Given the description of an element on the screen output the (x, y) to click on. 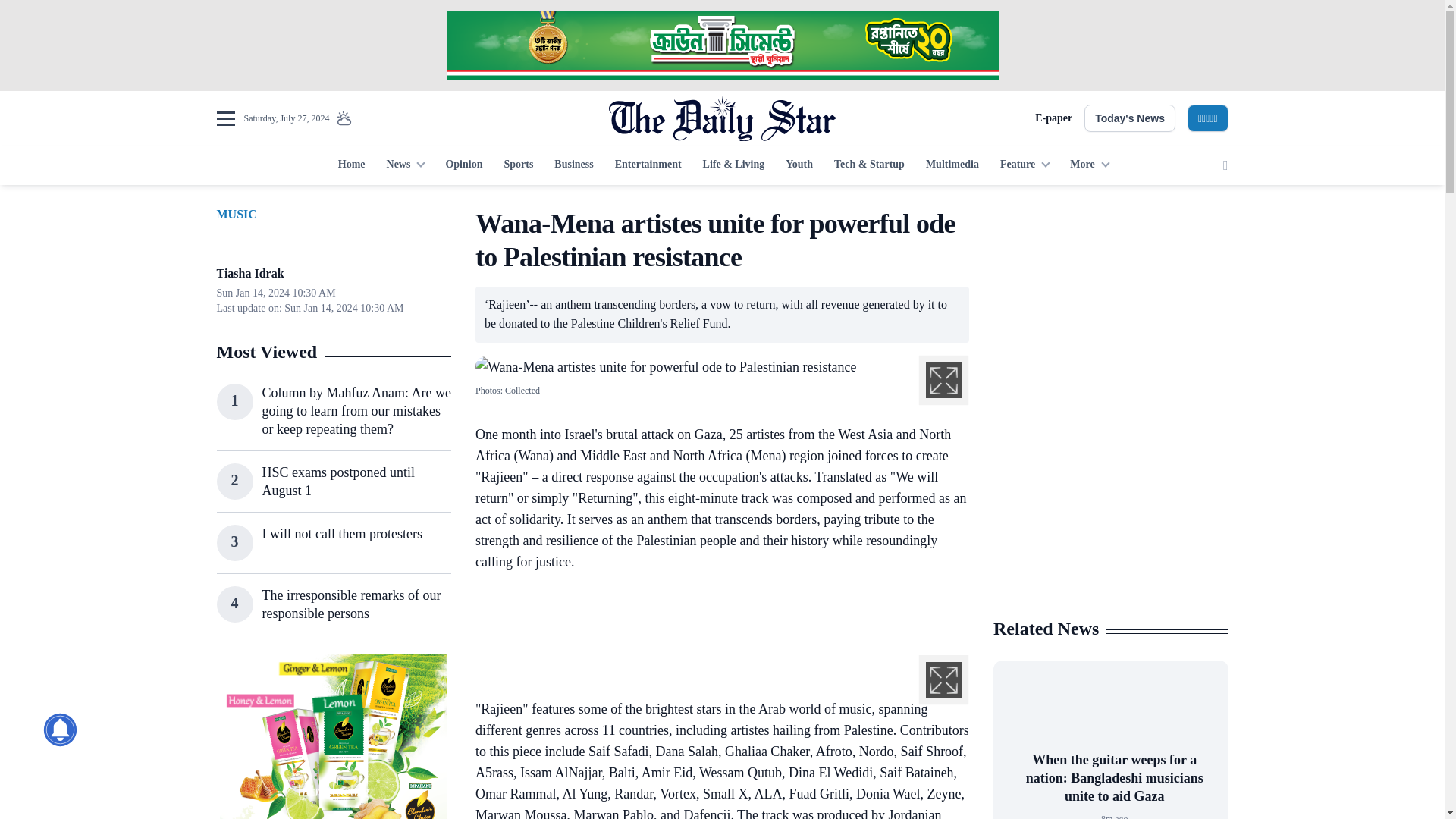
Today's News (1129, 117)
Feature (1024, 165)
Multimedia (952, 165)
3rd party ad content (332, 736)
3rd party ad content (721, 45)
3rd party ad content (714, 616)
Entertainment (647, 165)
E-paper (1053, 117)
